Given the description of an element on the screen output the (x, y) to click on. 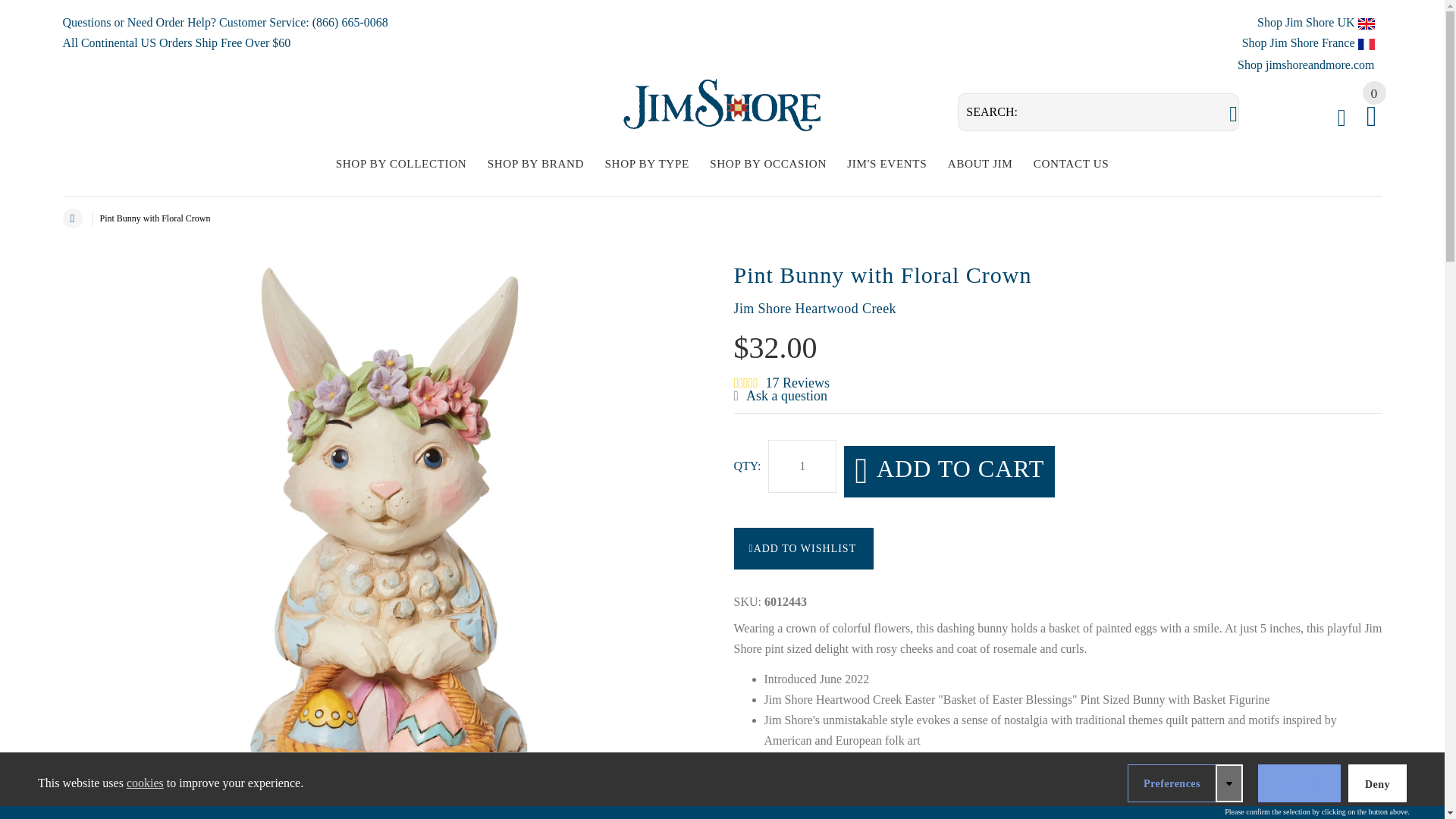
Jim Shore Heartwood Creek (814, 307)
1 (801, 466)
